Given the description of an element on the screen output the (x, y) to click on. 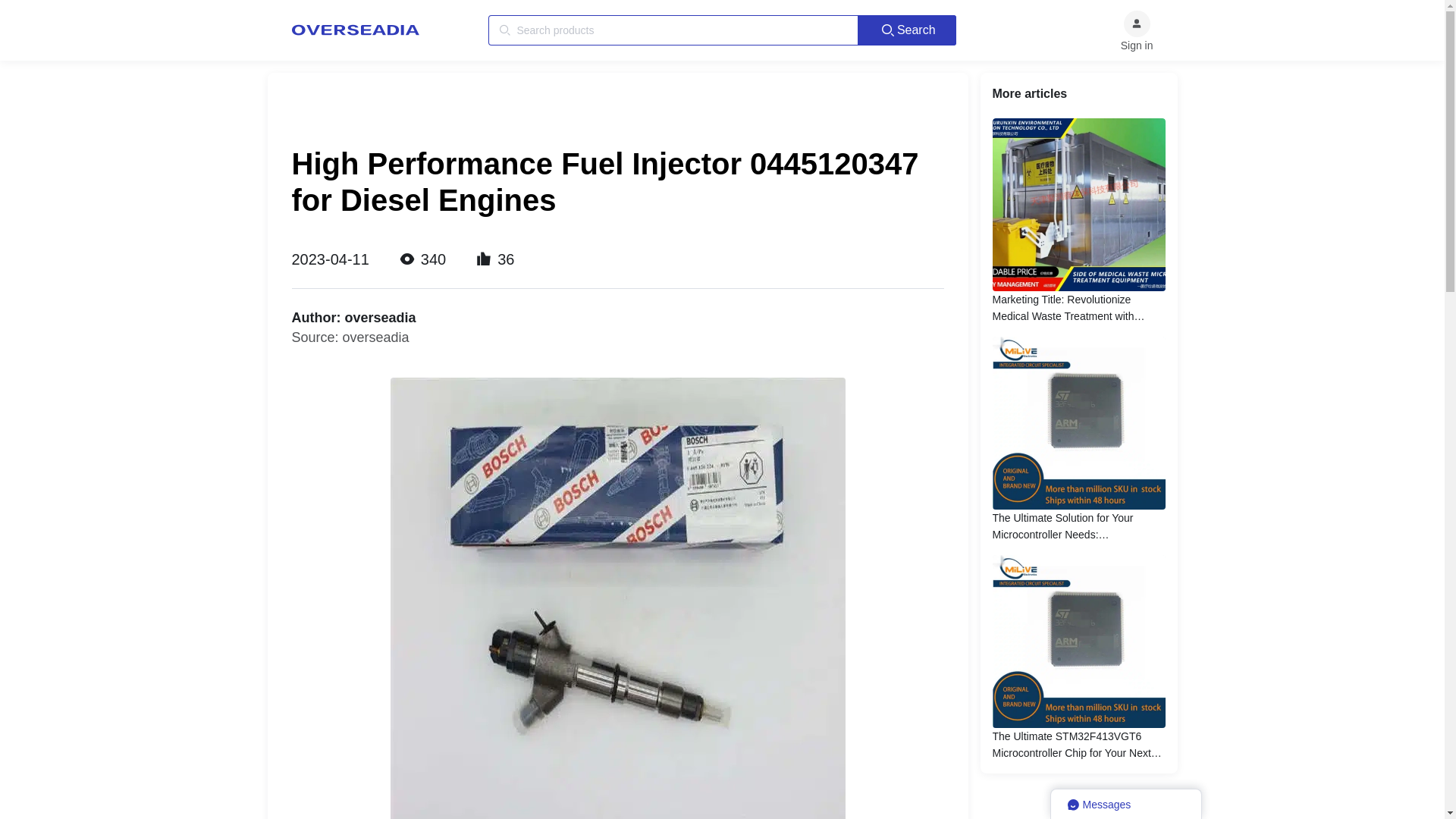
Search (907, 30)
Messages (1125, 803)
